Given the description of an element on the screen output the (x, y) to click on. 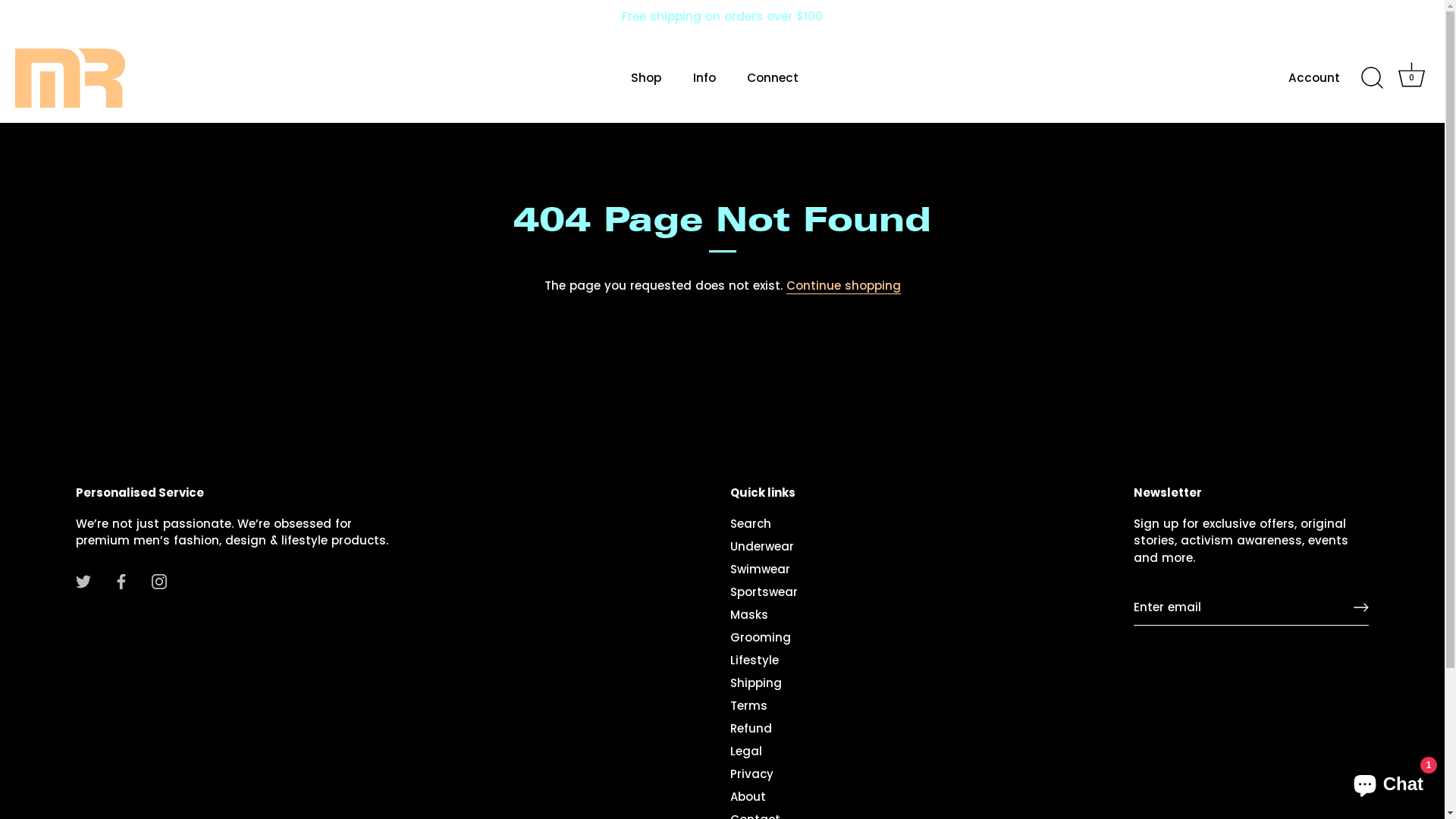
Account Element type: text (1327, 78)
Swimwear Element type: text (760, 569)
Refund Element type: text (750, 728)
Continue shopping Element type: text (842, 285)
Privacy Element type: text (751, 773)
Shopify online store chat Element type: hover (1388, 780)
Twitter Element type: text (83, 580)
Search Element type: text (750, 523)
Underwear Element type: text (761, 546)
Instagram Element type: text (158, 580)
Grooming Element type: text (760, 637)
RIGHT ARROW LONG Element type: text (1360, 607)
Sportswear Element type: text (763, 591)
Cart
0 Element type: text (1410, 77)
Masks Element type: text (749, 614)
Lifestyle Element type: text (754, 660)
About Element type: text (747, 796)
Shipping Element type: text (755, 682)
Legal Element type: text (746, 751)
Connect Element type: text (772, 77)
Info Element type: text (703, 77)
Terms Element type: text (748, 705)
Shop Element type: text (645, 77)
